Given the description of an element on the screen output the (x, y) to click on. 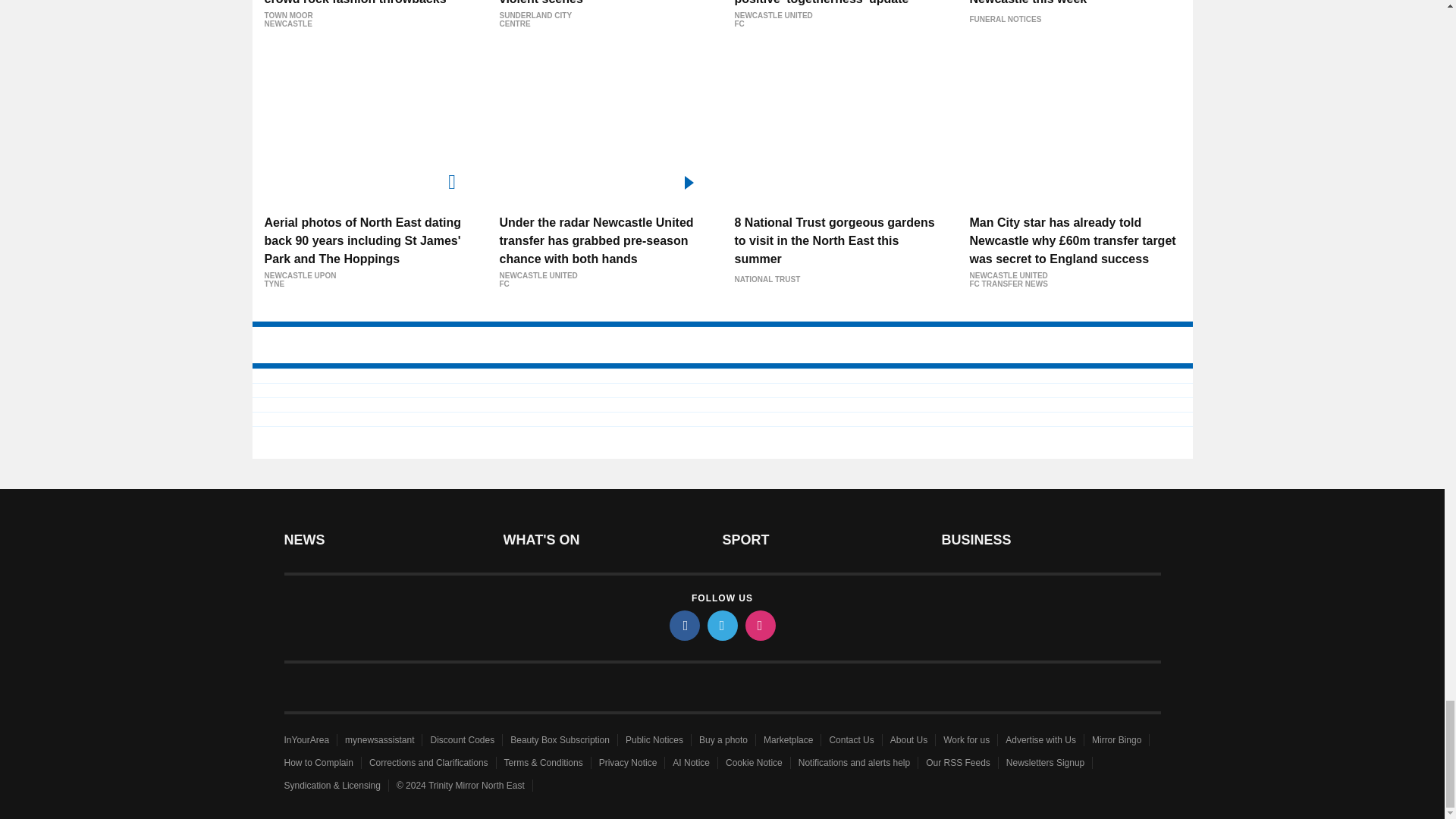
twitter (721, 625)
instagram (759, 625)
facebook (683, 625)
